Given the description of an element on the screen output the (x, y) to click on. 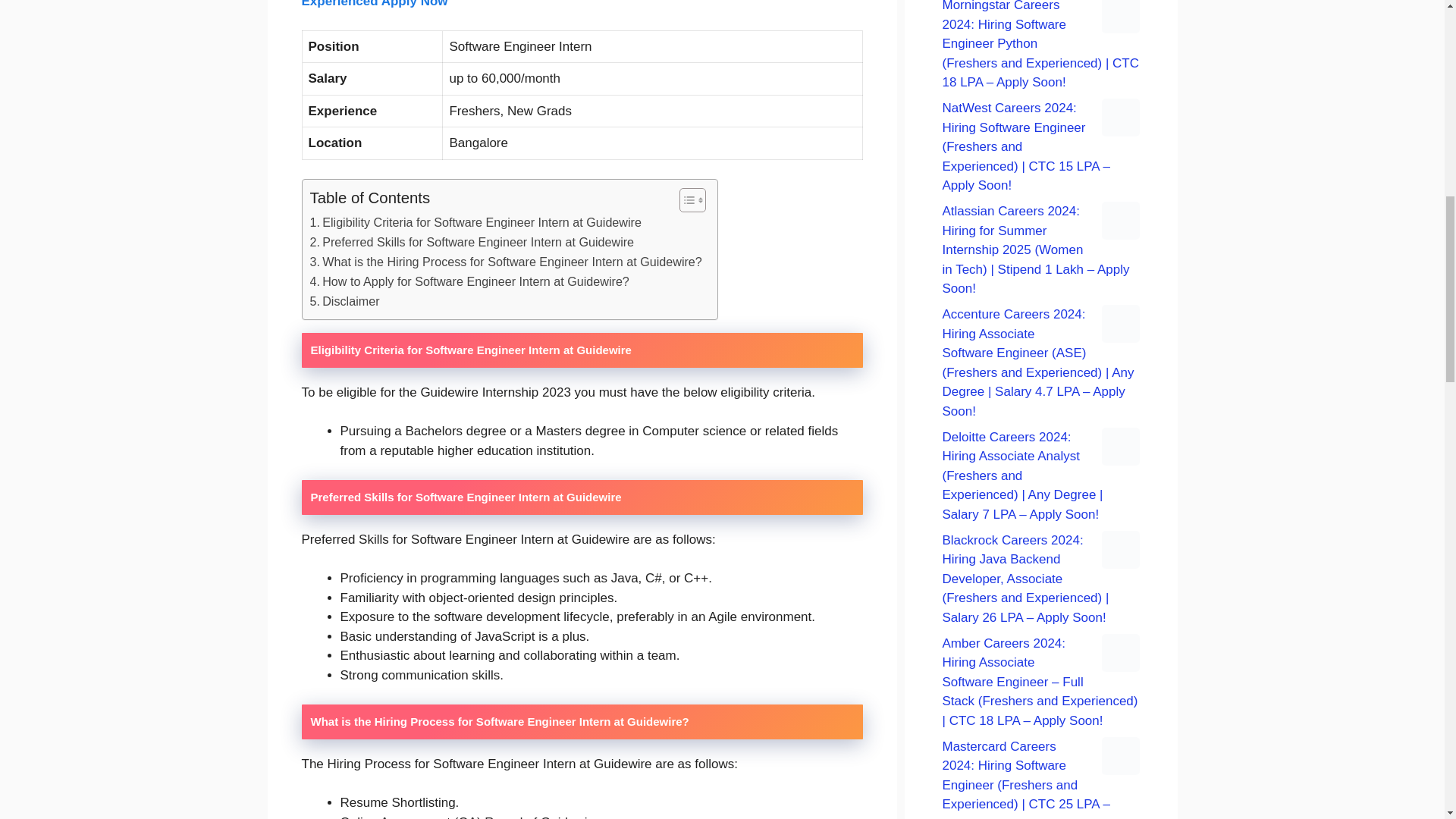
Disclaimer (343, 301)
How to Apply for Software Engineer Intern at Guidewire? (468, 281)
Preferred Skills for Software Engineer Intern at Guidewire (470, 242)
Disclaimer (343, 301)
How to Apply for Software Engineer Intern at Guidewire? (468, 281)
